Given the description of an element on the screen output the (x, y) to click on. 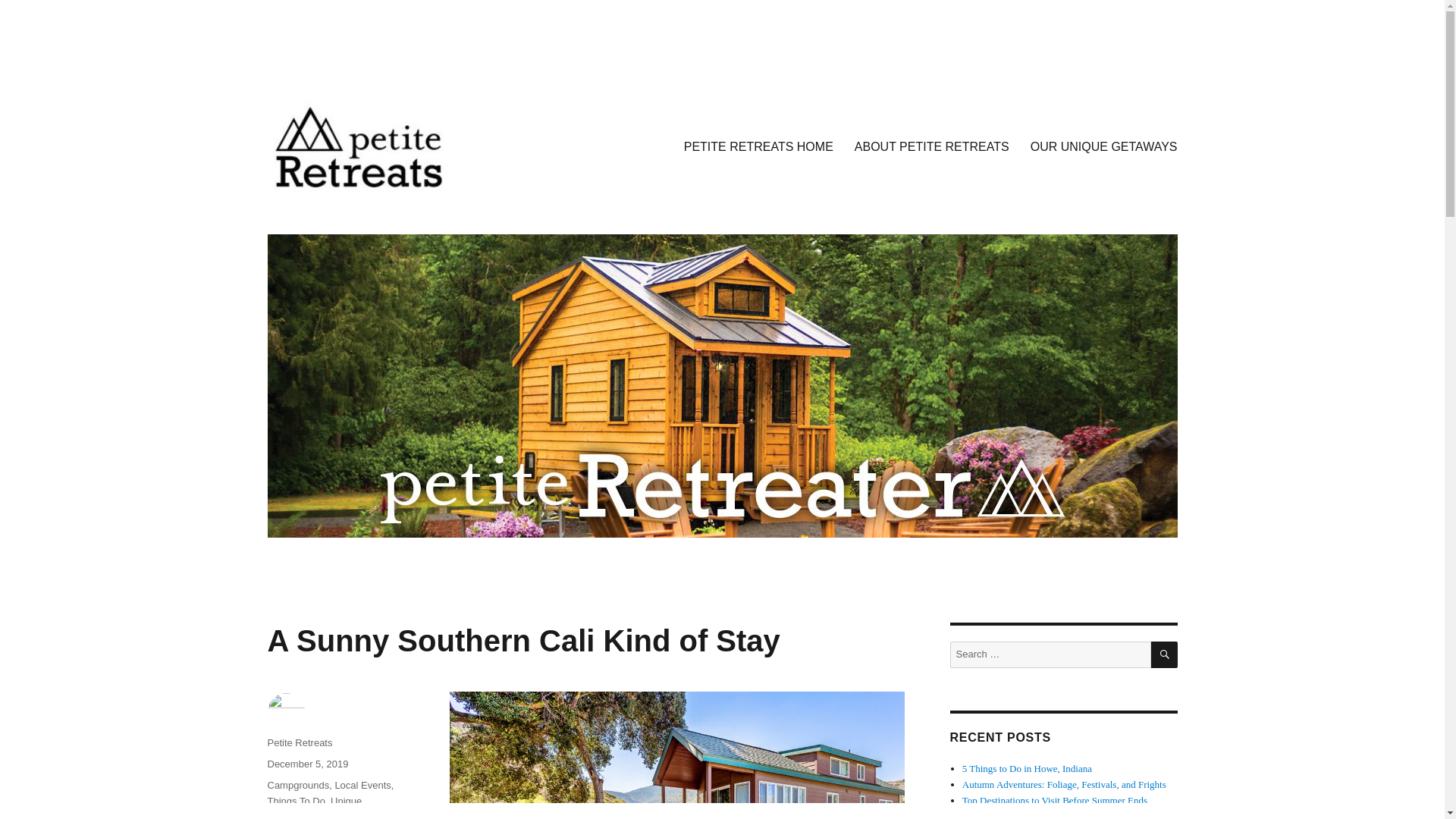
PETITE RETREATS HOME (758, 146)
December 5, 2019 (306, 763)
Petite Retreats (298, 742)
ABOUT PETITE RETREATS (932, 146)
Local Events (362, 785)
OUR UNIQUE GETAWAYS (1104, 146)
Unique Accommodations (313, 807)
Things To Do (295, 800)
Petite Retreater (344, 215)
Campgrounds (297, 785)
